Given the description of an element on the screen output the (x, y) to click on. 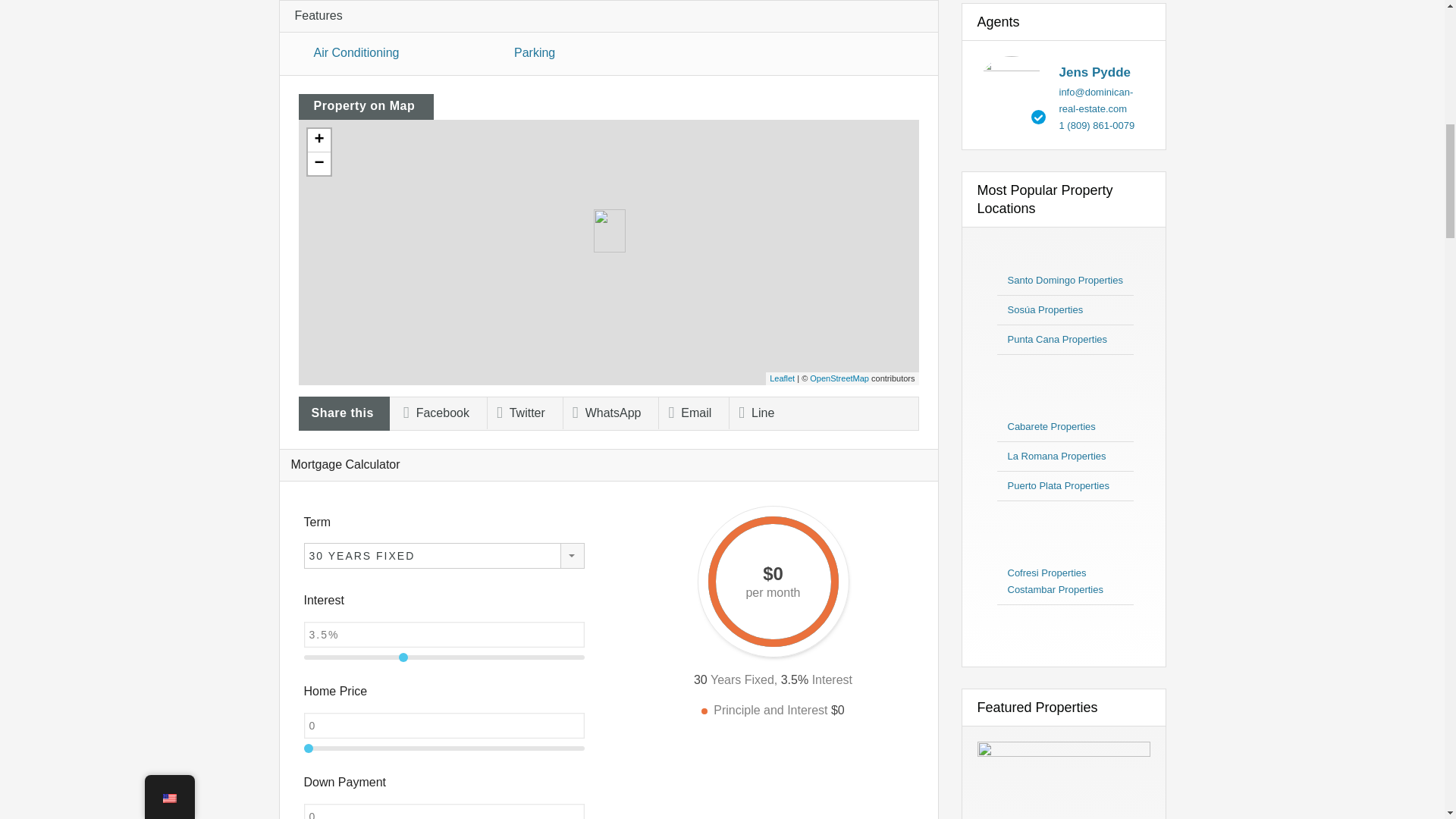
100000 (442, 748)
0 (442, 725)
0 (442, 811)
3.5 (442, 657)
